Given the description of an element on the screen output the (x, y) to click on. 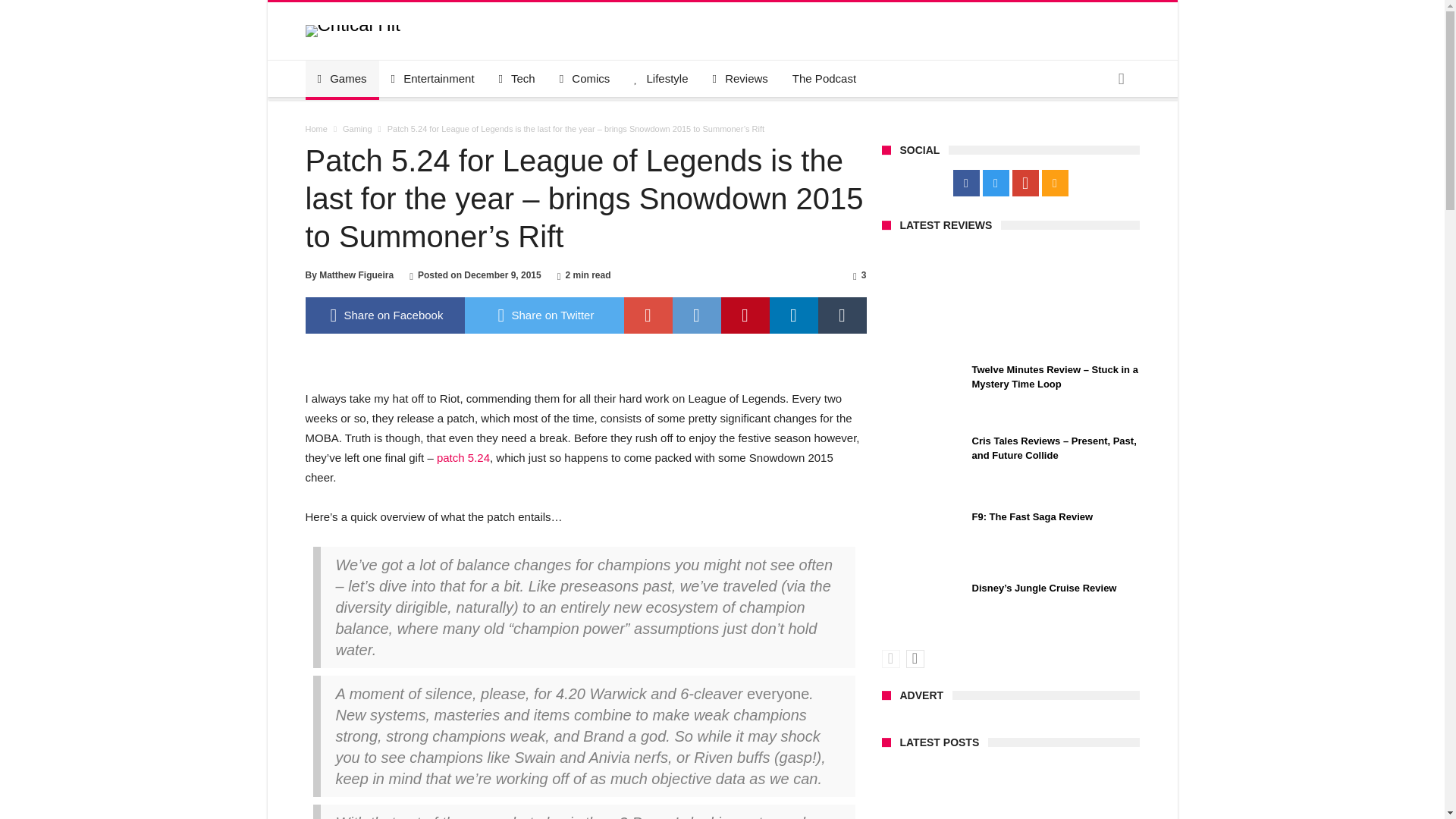
Reviews (740, 78)
linkedin (792, 315)
Entertainment (432, 78)
Games (341, 78)
Share on Facebook (384, 315)
The Podcast (823, 78)
Lifestyle (660, 78)
twitter (543, 315)
Share on Pinterest (744, 315)
reddit (695, 315)
